Given the description of an element on the screen output the (x, y) to click on. 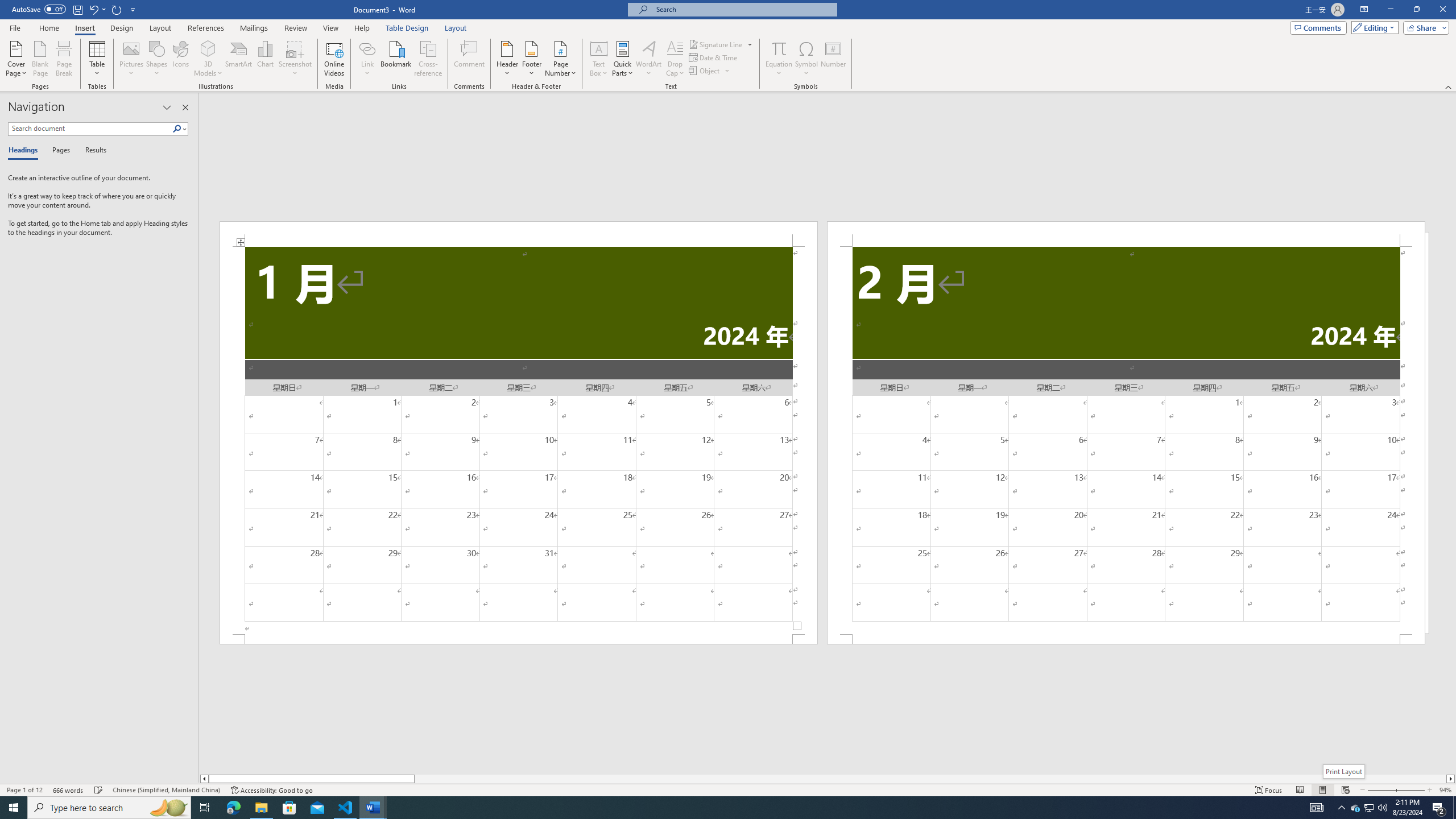
Online Videos... (333, 58)
Undo Increase Indent (96, 9)
Signature Line (716, 44)
Comment (469, 58)
Pictures (131, 58)
Column left (203, 778)
Page right (929, 778)
Repeat Doc Close (117, 9)
